Given the description of an element on the screen output the (x, y) to click on. 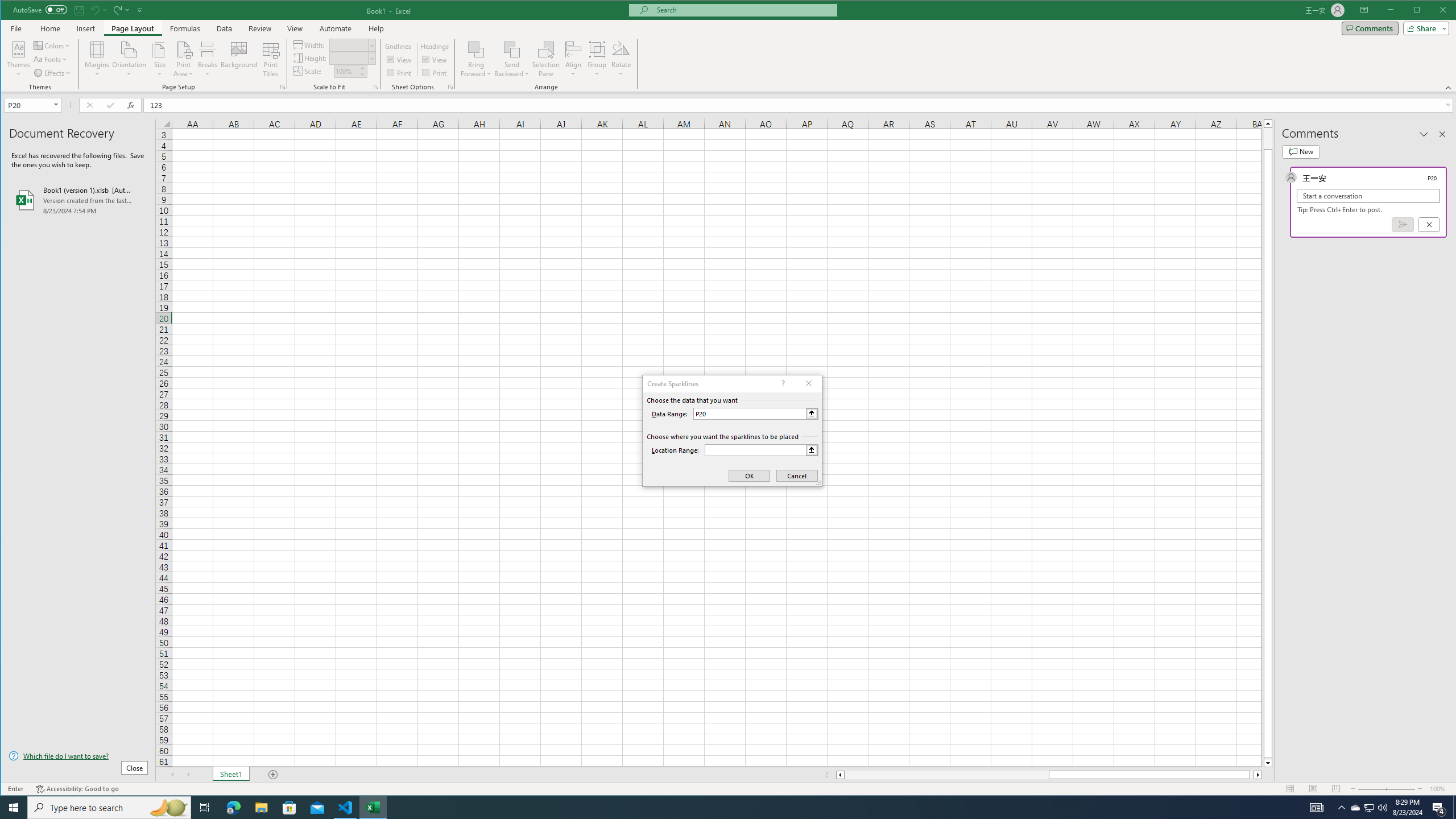
Sheet Options (449, 86)
Print (434, 72)
Rotate (620, 59)
Breaks (207, 59)
